Given the description of an element on the screen output the (x, y) to click on. 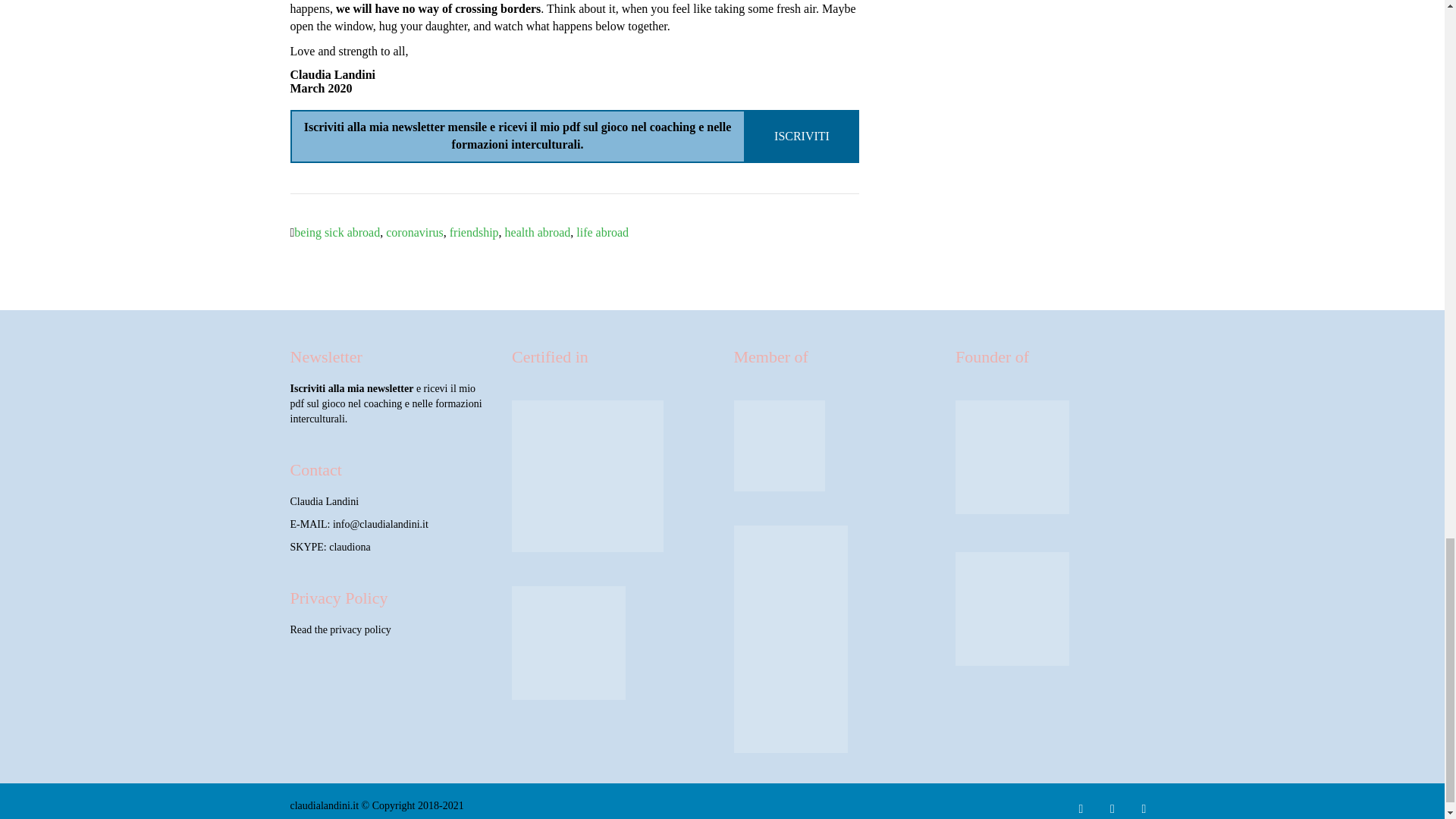
life abroad (602, 232)
coronavirus (414, 232)
health abroad (537, 232)
Iscriviti alla mia newsletter (351, 388)
being sick abroad (337, 232)
friendship (474, 232)
ISCRIVITI (801, 135)
